Given the description of an element on the screen output the (x, y) to click on. 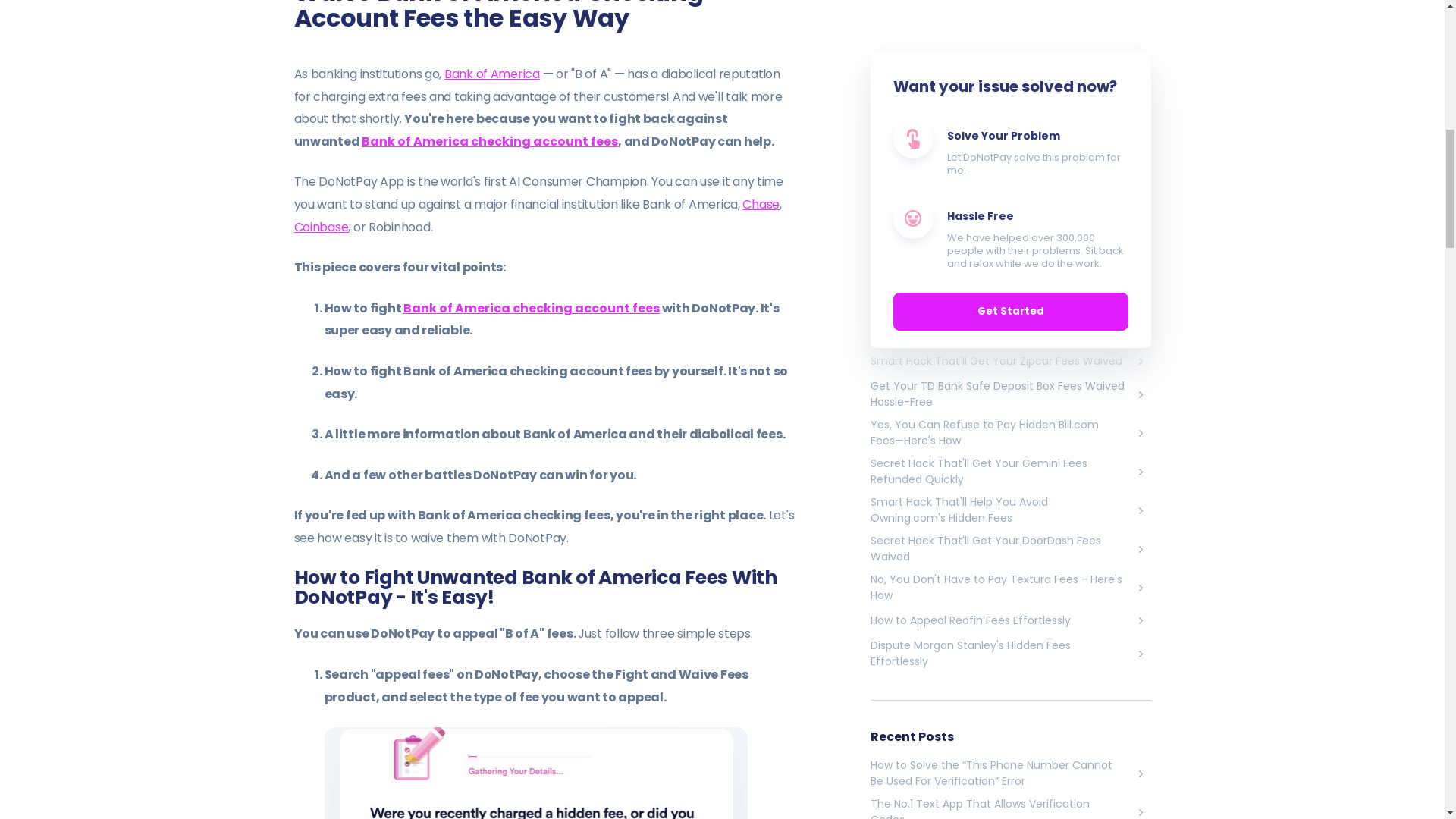
Bank of America (492, 73)
Coinbase (321, 226)
Bank of America checking account fees (489, 140)
Chase (760, 203)
Bank of America checking account fees (531, 307)
